Given the description of an element on the screen output the (x, y) to click on. 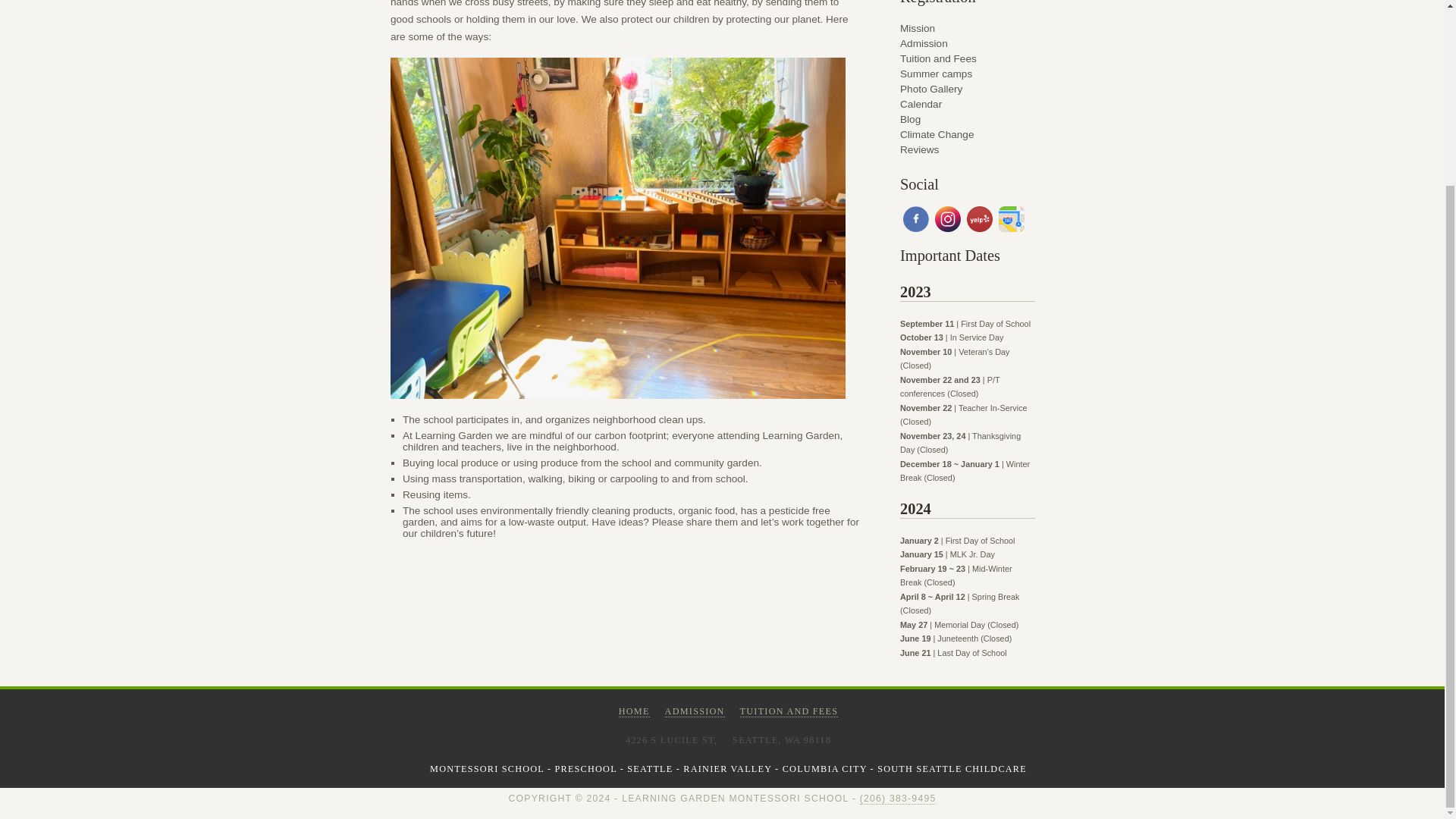
Reviews (967, 147)
Photo Gallery (967, 87)
Blog (967, 117)
TUITION AND FEES (788, 711)
HOME (633, 711)
Yelp (979, 220)
Climate Change (967, 132)
Calendar (967, 102)
Map (1011, 220)
Summer camps (967, 71)
Tuition and Fees (967, 56)
Admission (967, 41)
Mission (967, 26)
Instagram (947, 220)
Facebook (915, 220)
